Given the description of an element on the screen output the (x, y) to click on. 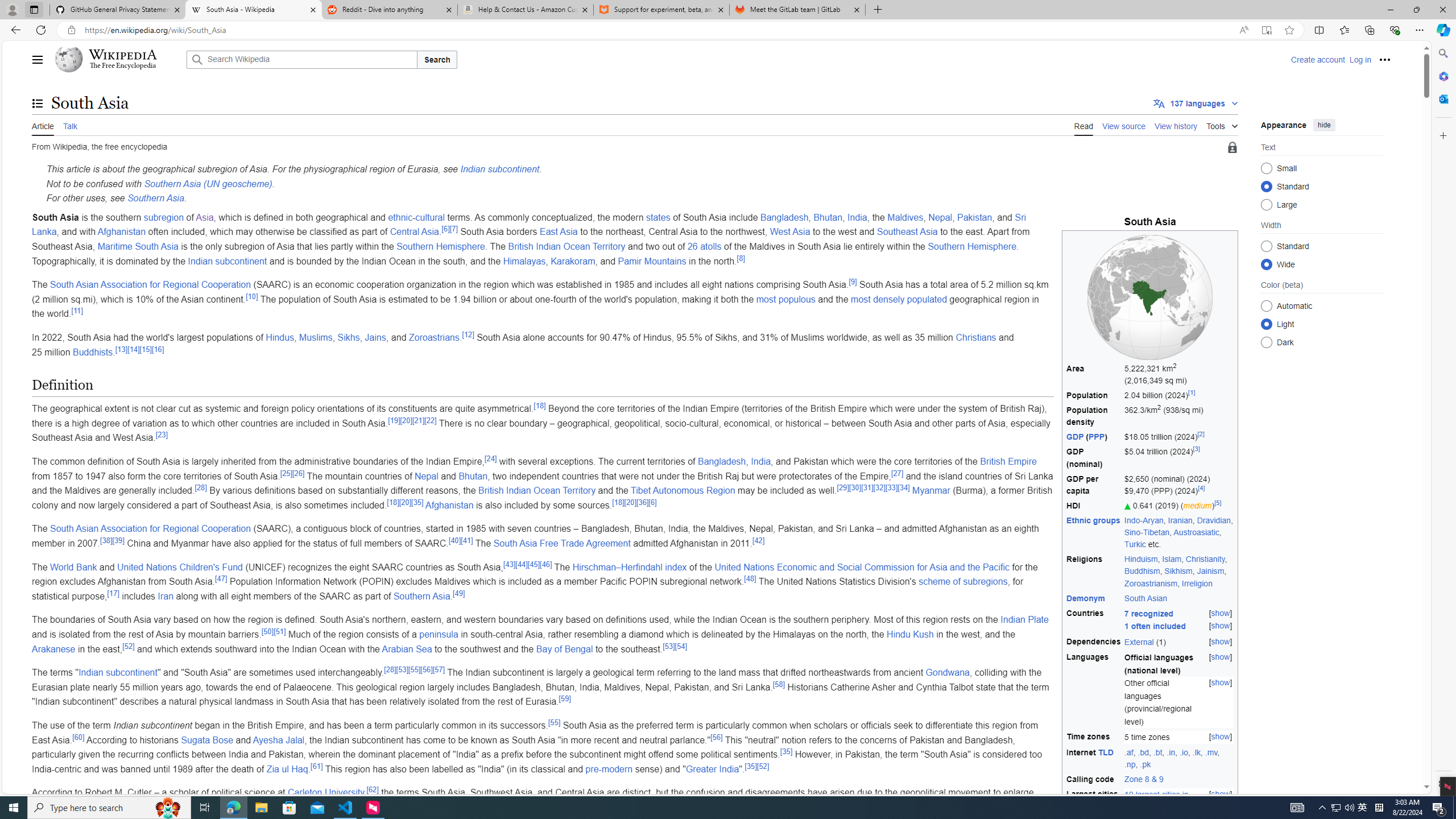
[13] (121, 348)
pre-modern (609, 768)
View source (1123, 124)
Countries (1093, 619)
Afghanistan (449, 504)
Help & Contact Us - Amazon Customer Service - Sleeping (525, 9)
Dark (1266, 341)
Zoroastrianism (1150, 583)
ethnic (400, 217)
Ethnic groups (1093, 519)
26 atolls (704, 246)
Southern Asia (421, 596)
Main menu (37, 59)
Jains (374, 337)
